Given the description of an element on the screen output the (x, y) to click on. 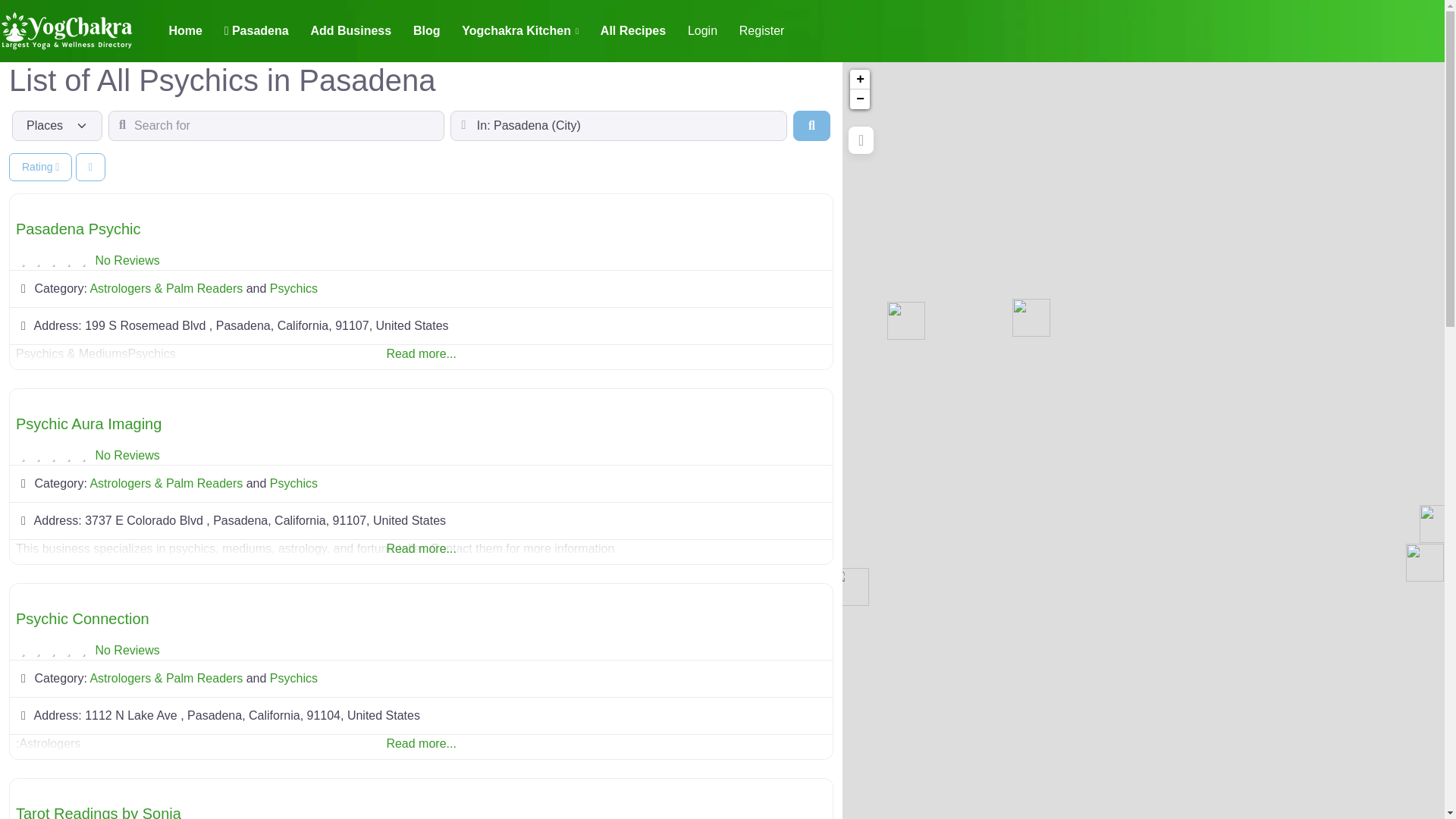
Search (811, 125)
Tarot Readings by Sonia (850, 587)
No rating yet! (53, 650)
Pasadena Psychic (1425, 562)
Pasadena (255, 30)
View: Tarot Readings by Sonia (98, 812)
Blog (425, 30)
YogChakra (66, 29)
No rating yet! (53, 260)
Pasadena Psychic (78, 228)
No rating yet! (53, 455)
Yogchakra Kitchen (520, 30)
No Reviews (126, 454)
Add Business (350, 30)
Psychic Connection (82, 618)
